Given the description of an element on the screen output the (x, y) to click on. 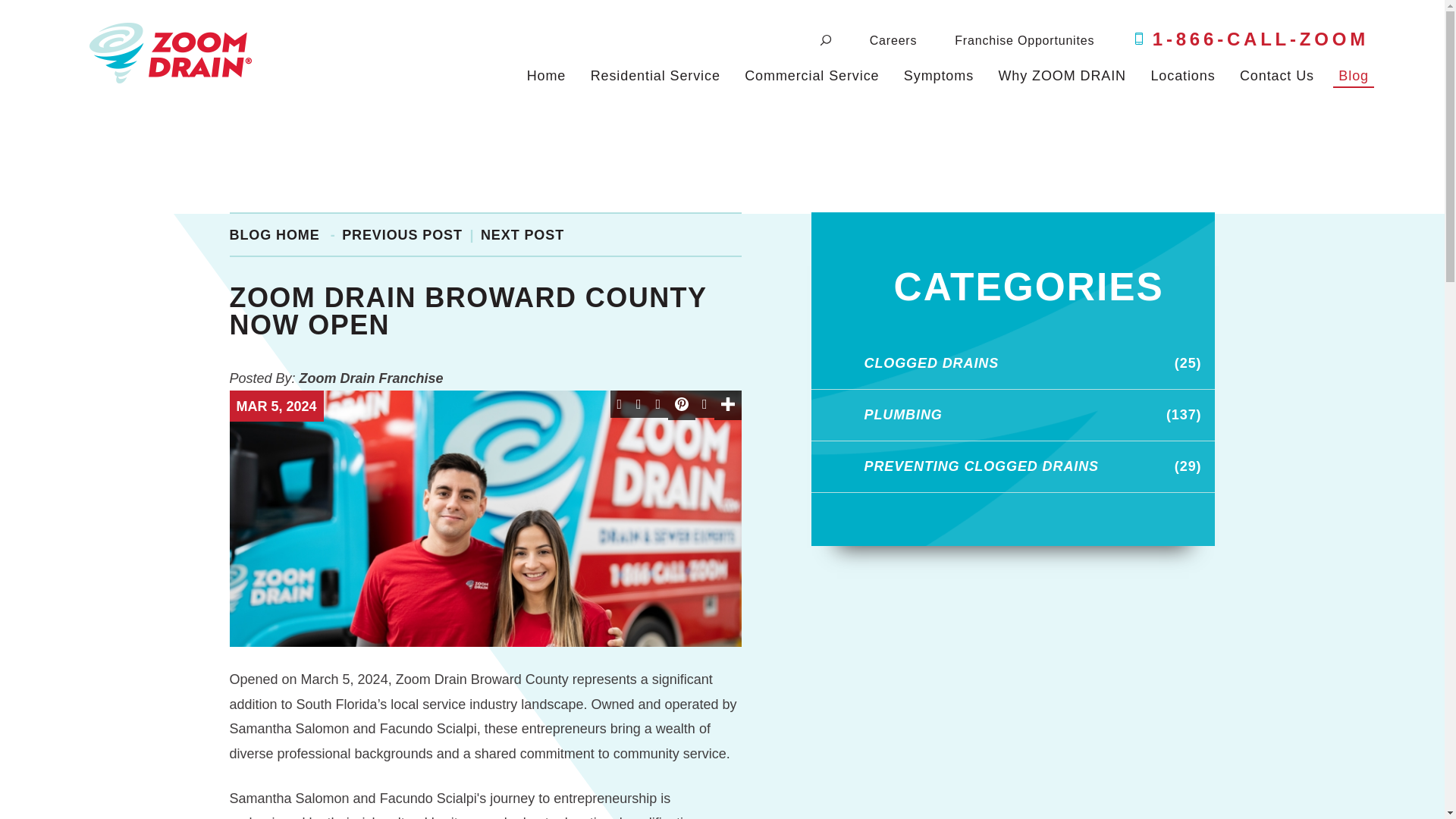
Home (545, 75)
Commercial Service (811, 75)
Franchise Opportunites (1024, 39)
Zoom Drain San Diego North County Now Open (402, 234)
Contact Us (1276, 75)
Locations (1182, 75)
Zoom Drain Broward County Now Open (484, 518)
Blog (1347, 75)
Residential Service (655, 75)
1-866-CALL-ZOOM (1260, 39)
